Given the description of an element on the screen output the (x, y) to click on. 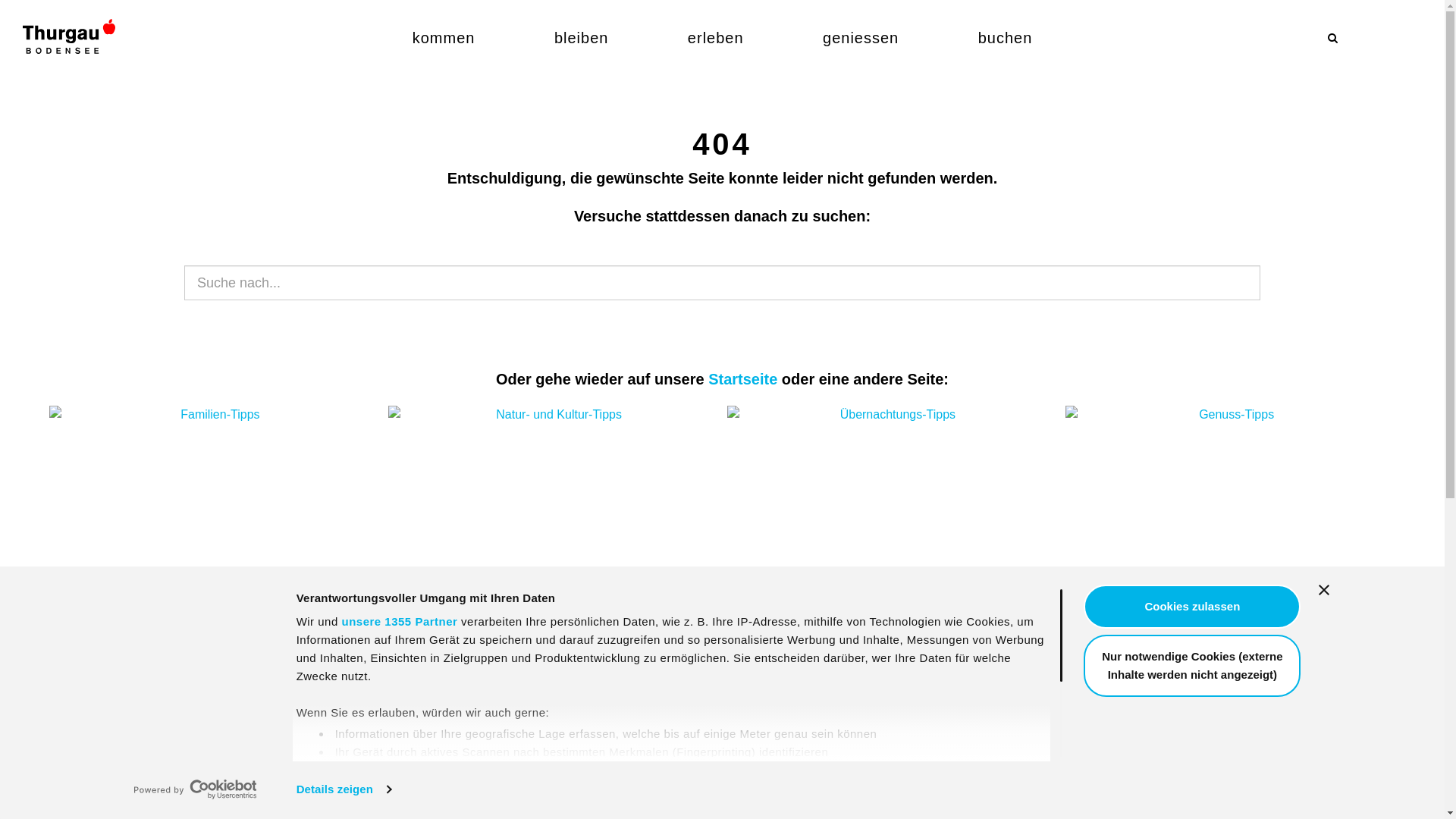
Natur- und Kultur-Tipps Element type: hover (553, 528)
Abschnitt Einzelheiten Element type: text (963, 772)
Organisation Element type: text (553, 808)
Startseite Element type: text (742, 378)
erleben Element type: text (715, 37)
Details zeigen Element type: text (343, 789)
Genuss-Tipps Element type: text (1229, 674)
Mehr entdecken Element type: text (785, 808)
Cookies zulassen Element type: text (1191, 606)
Natur- und Kultur-Tipps Element type: text (552, 674)
geniessen Element type: text (860, 37)
unsere 1355 Partner Element type: text (399, 621)
kommen Element type: text (443, 37)
Genuss-Tipps Element type: hover (1230, 528)
Familien-Tipps Element type: hover (214, 528)
bleiben Element type: text (581, 37)
Familien-Tipps Element type: text (214, 674)
buchen Element type: text (1005, 37)
